Given the description of an element on the screen output the (x, y) to click on. 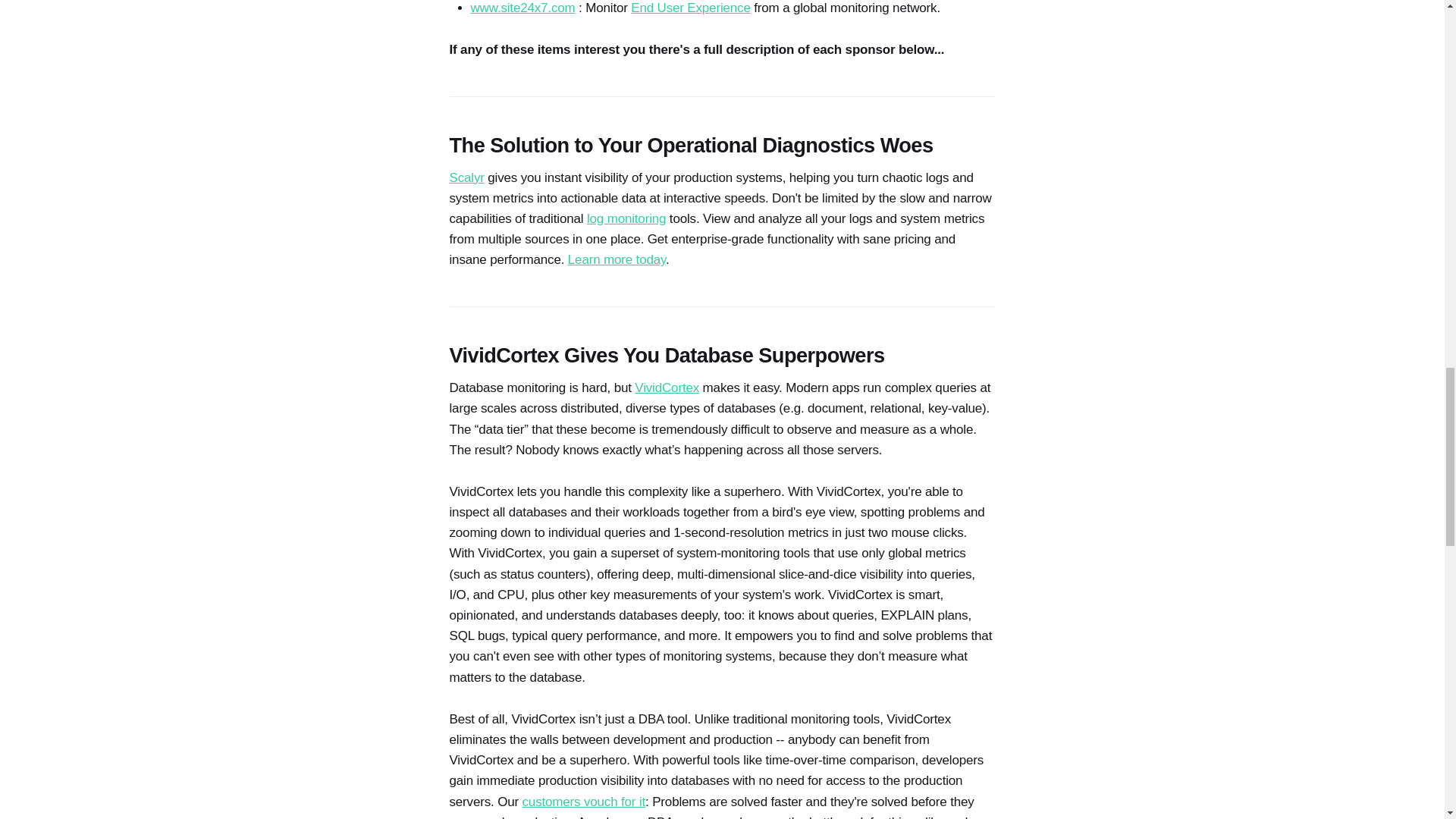
customers vouch for it (584, 801)
www.site24x7.com (522, 7)
log monitoring (625, 218)
VividCortex (666, 387)
Scalyr (465, 177)
Learn more today (616, 259)
End User Experience (689, 7)
